Given the description of an element on the screen output the (x, y) to click on. 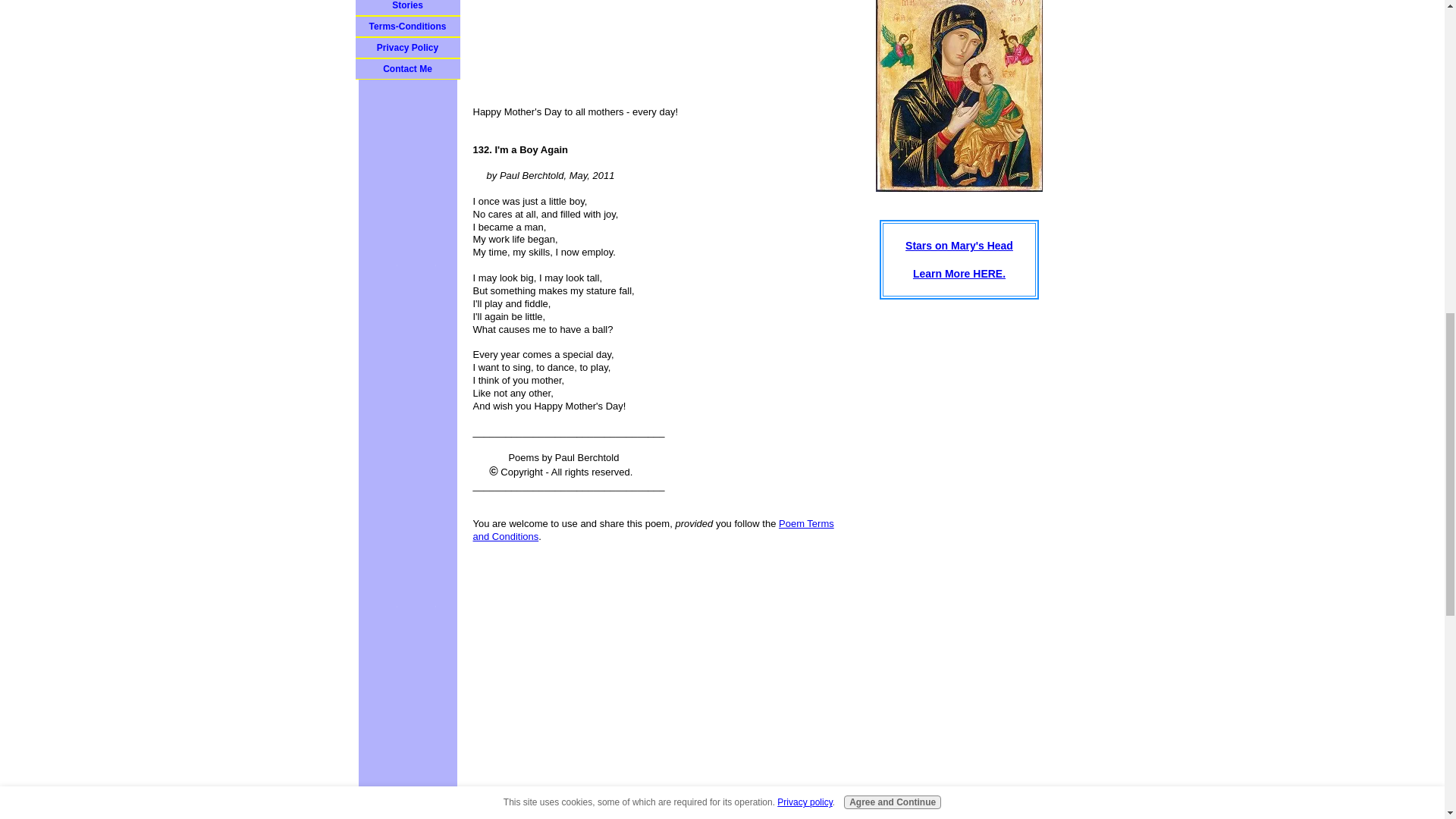
Advertisement (662, 803)
Poem Terms and Conditions (653, 529)
Poem Terms and Conditions (653, 529)
Advertisement (662, 33)
Our Lady of Perpetual Help - Miraculous Image and Story (959, 259)
